Given the description of an element on the screen output the (x, y) to click on. 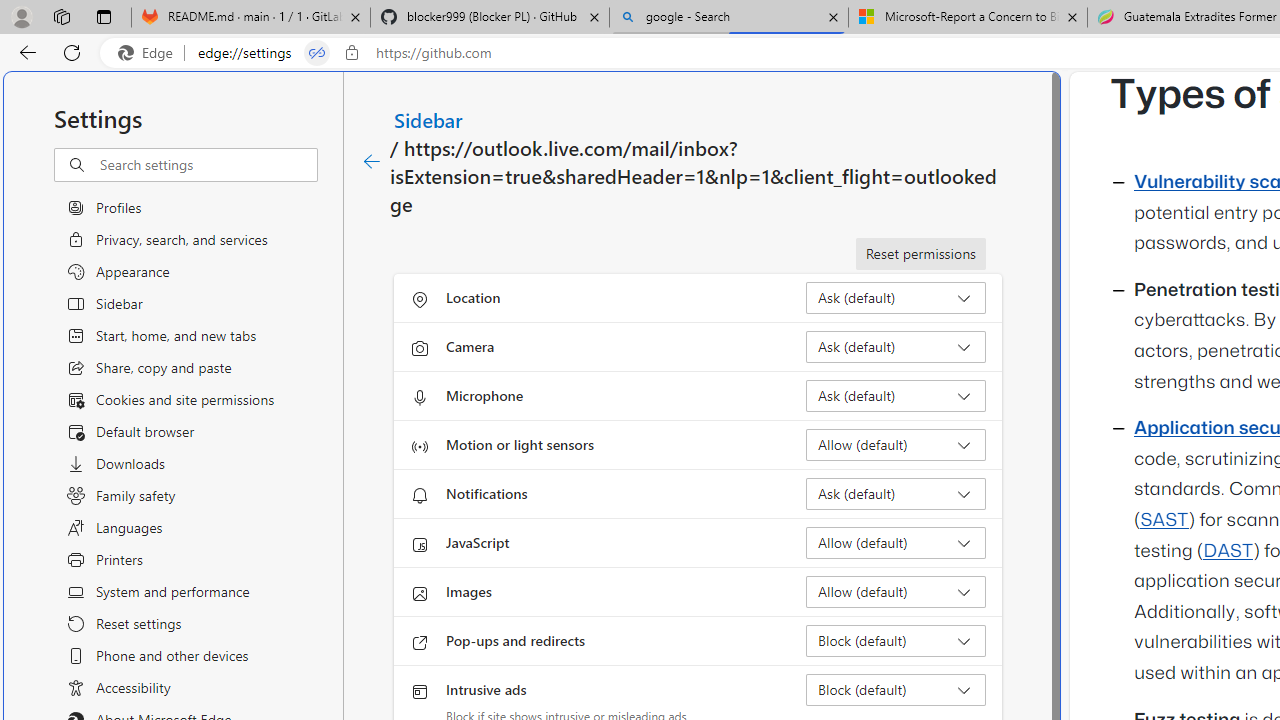
Class: c01182 (371, 161)
Images Allow (default) (895, 591)
Location Ask (default) (895, 297)
Intrusive ads Block (default) (895, 689)
Sidebar (429, 119)
Microphone Ask (default) (895, 395)
SAST (1164, 520)
